Given the description of an element on the screen output the (x, y) to click on. 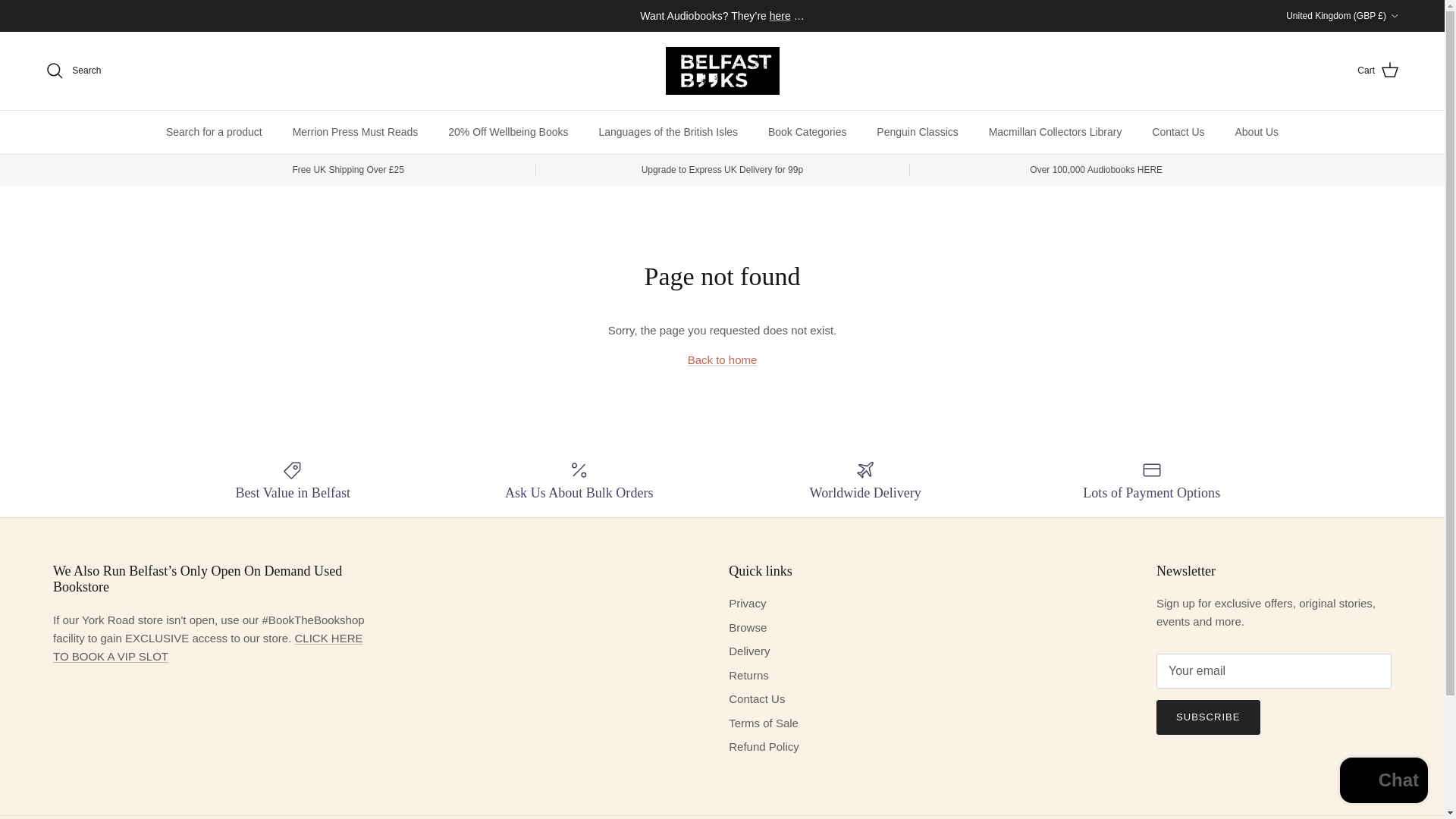
Merrion Press Must Reads (355, 131)
Book Categories (807, 131)
Languages of the British Isles (668, 131)
Cart (1377, 70)
Search for a product (214, 131)
Contact Us (1177, 131)
Belfast Books (721, 70)
About Us (1256, 131)
here (780, 15)
Macmillan Collectors Library (1055, 131)
